Given the description of an element on the screen output the (x, y) to click on. 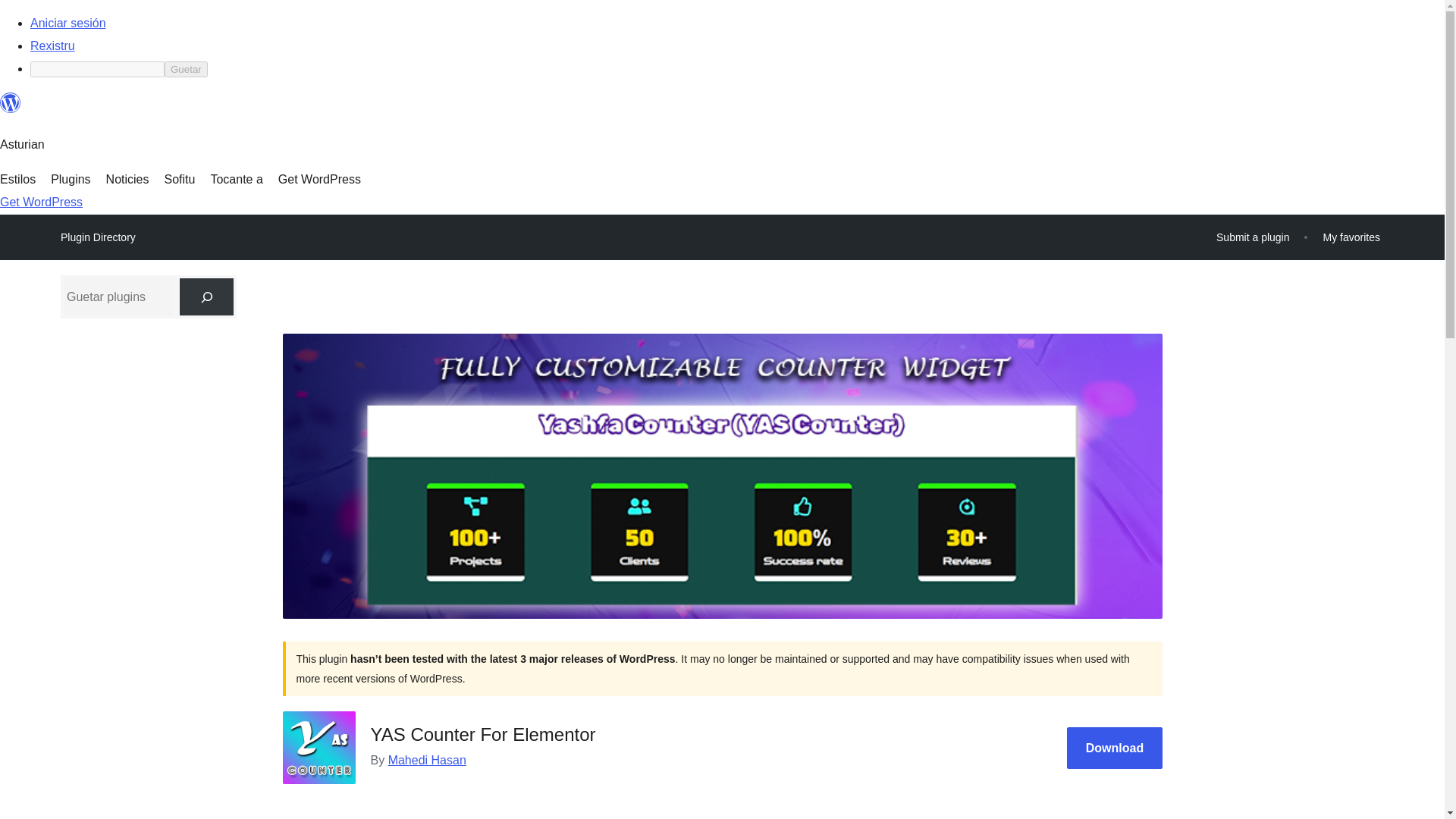
Guetar (186, 68)
My favorites (1351, 236)
Tocante a (235, 179)
Guetar (186, 68)
Submit a plugin (1253, 236)
Installation (480, 813)
Estilos (17, 179)
Rexistru (52, 45)
Mahedi Hasan (426, 759)
Download (1114, 748)
Reviews (392, 813)
Get WordPress (41, 201)
Support (1132, 813)
Plugin Directory (97, 237)
WordPress.org (10, 109)
